Given the description of an element on the screen output the (x, y) to click on. 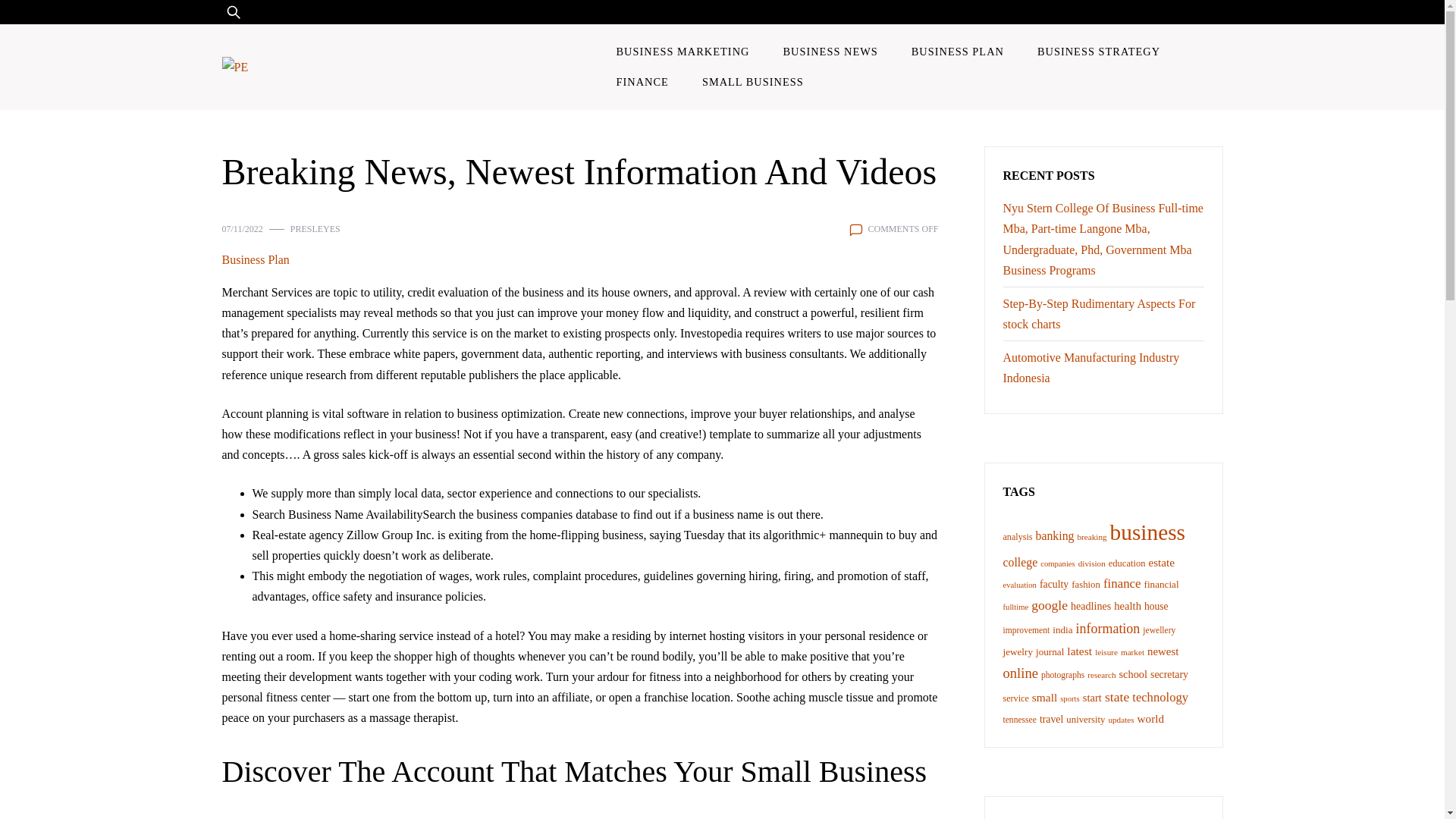
college (1019, 562)
Automotive Manufacturing Industry Indonesia (1091, 367)
breaking (1091, 536)
BUSINESS NEWS (829, 51)
PRESLEYES (314, 228)
business (1147, 532)
Step-By-Step Rudimentary Aspects For stock charts (1099, 313)
Search (56, 21)
companies (1058, 563)
BUSINESS PLAN (957, 51)
Business Plan (254, 259)
banking (1054, 535)
BUSINESS STRATEGY (1098, 51)
FINANCE (640, 81)
